Given the description of an element on the screen output the (x, y) to click on. 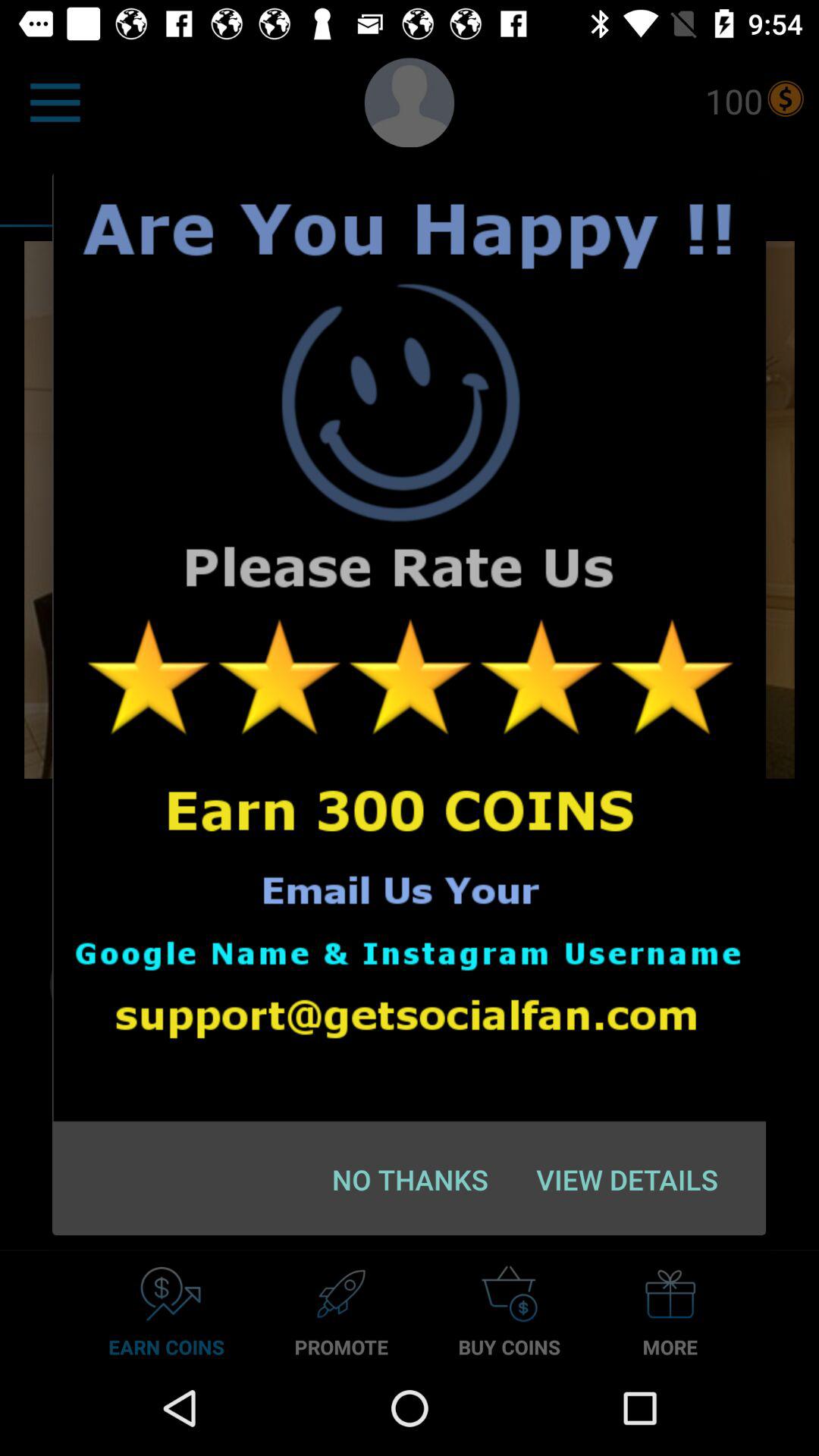
tap the item next to the view details item (410, 1179)
